Given the description of an element on the screen output the (x, y) to click on. 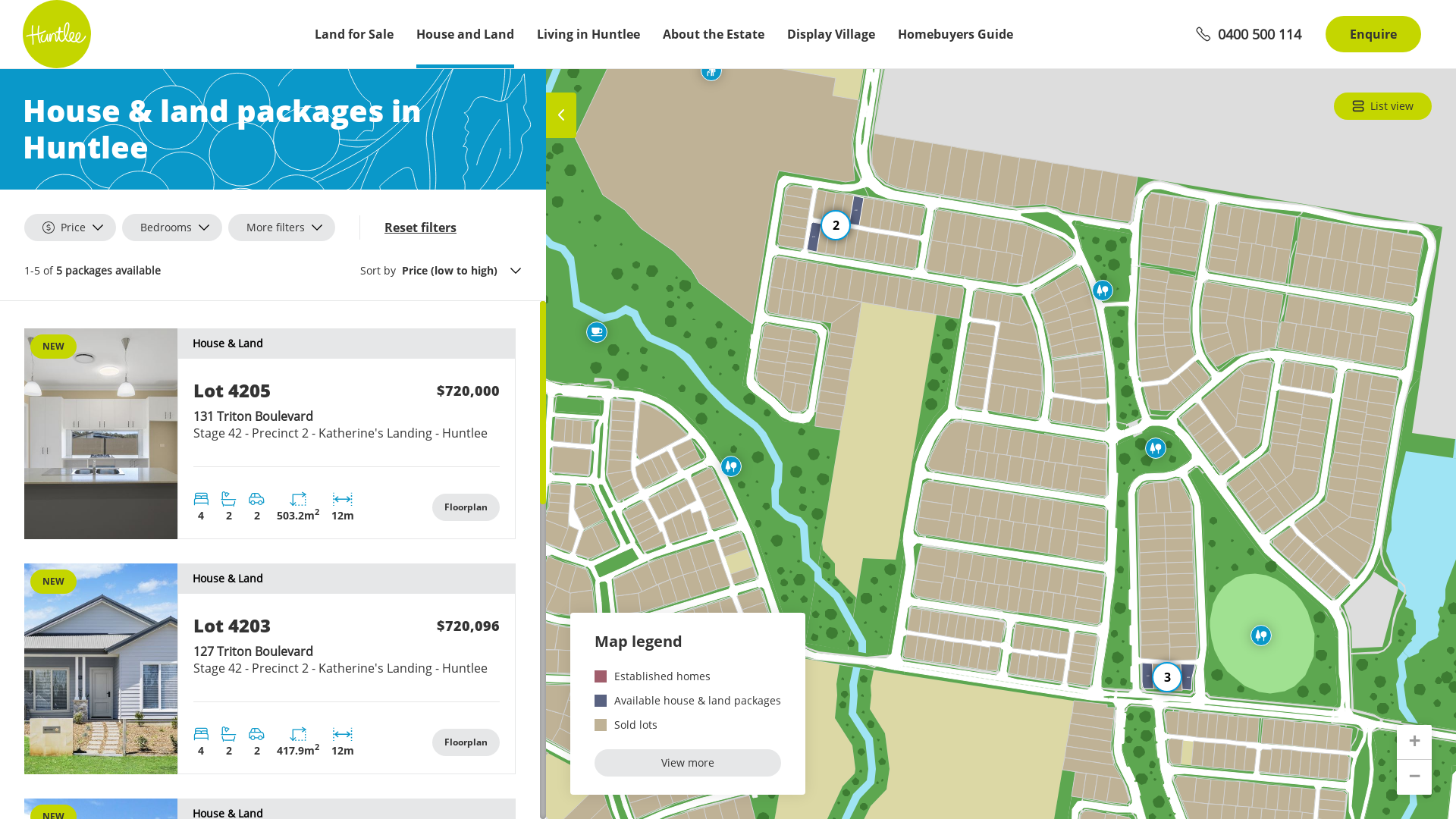
Display Village Element type: text (831, 34)
View more Element type: text (687, 762)
brand new display home village Element type: text (431, 740)
0400 500 114 Element type: text (1248, 33)
Reset filters Element type: text (420, 227)
Land for Sale Element type: text (353, 34)
Floorplan Element type: text (465, 506)
About the Estate Element type: text (713, 34)
Enquire Element type: text (1373, 33)
List view Element type: text (1382, 105)
Living in Huntlee Element type: text (588, 34)
+ Element type: text (1413, 741)
Floorplan Element type: text (465, 742)
House and Land Element type: text (465, 34)
Homebuyers Guide Element type: text (955, 34)
